Given the description of an element on the screen output the (x, y) to click on. 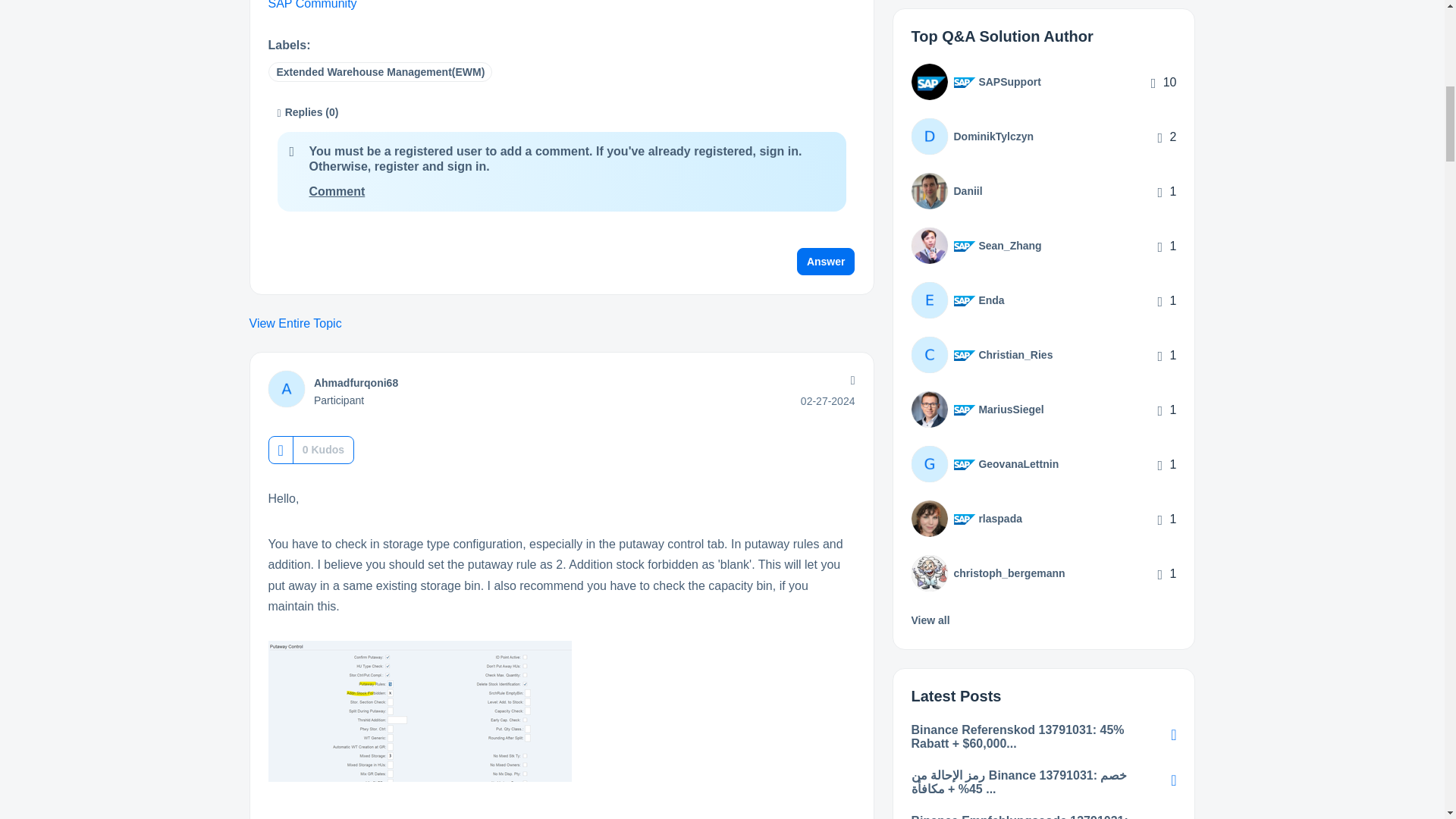
View Entire Topic (560, 322)
Comment (336, 191)
SAP Community (311, 4)
Answer (826, 261)
Ahmadfurqoni68 (285, 389)
Ahmadfurqoni68 (355, 382)
